Given the description of an element on the screen output the (x, y) to click on. 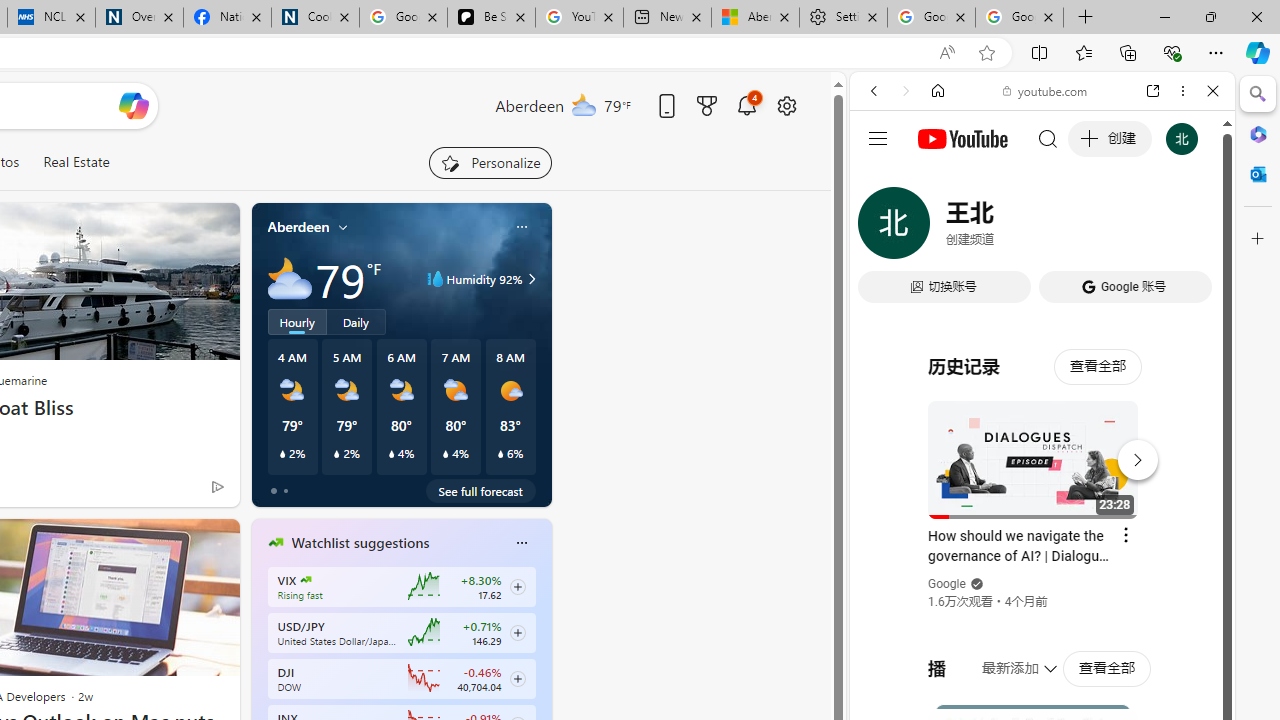
Class: weather-arrow-glyph (531, 278)
Mostly cloudy (289, 278)
My location (343, 227)
This story is trending (178, 490)
